Given the description of an element on the screen output the (x, y) to click on. 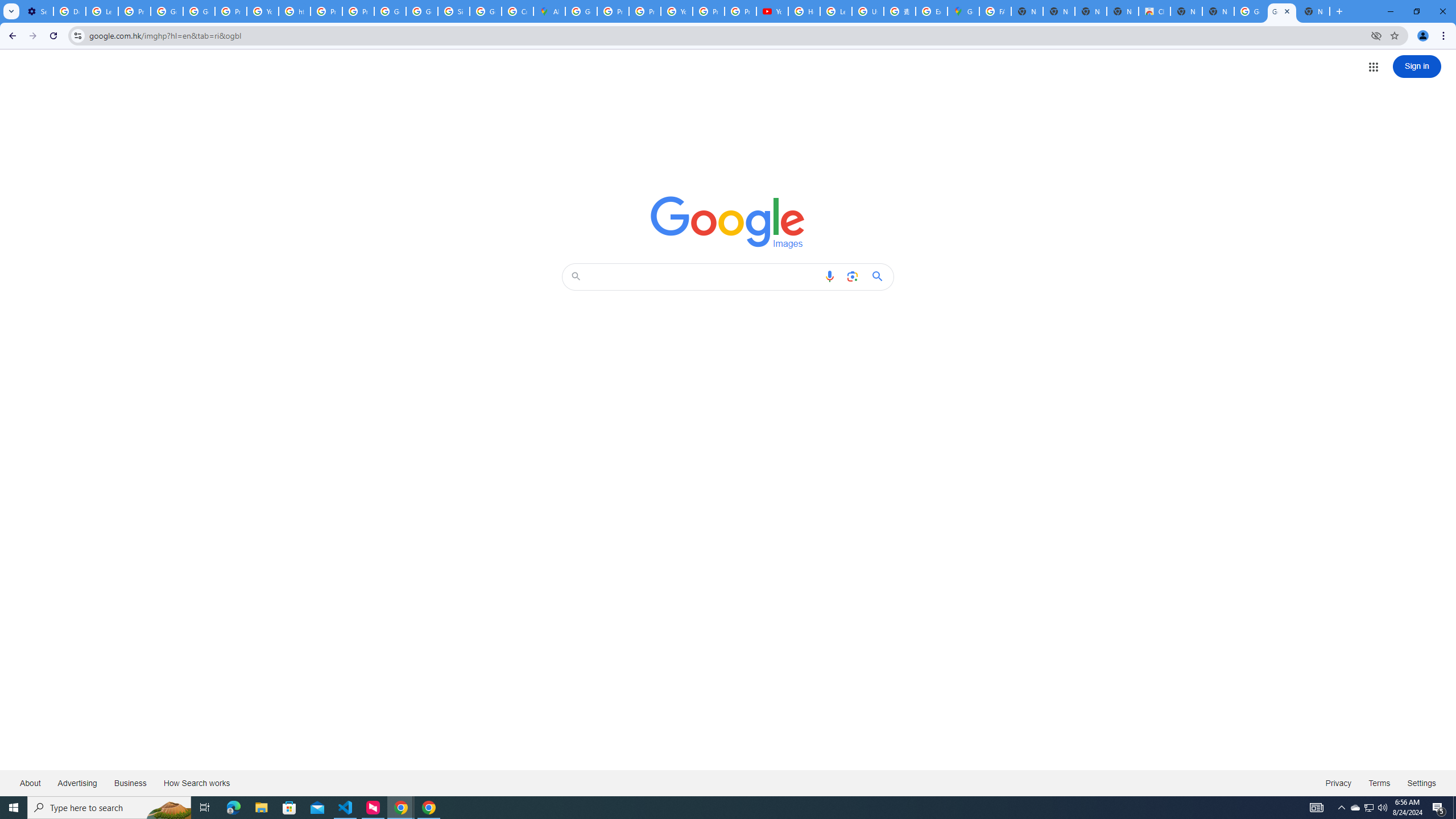
Google Images (727, 222)
Google apps (1373, 66)
Google Search (880, 276)
Google Account Help (198, 11)
Google Images (1281, 11)
Delete photos & videos - Computer - Google Photos Help (69, 11)
Google Maps (963, 11)
How Chrome protects your passwords - Google Chrome Help (804, 11)
YouTube (676, 11)
Settings (1421, 782)
Privacy Help Center - Policies Help (613, 11)
